Given the description of an element on the screen output the (x, y) to click on. 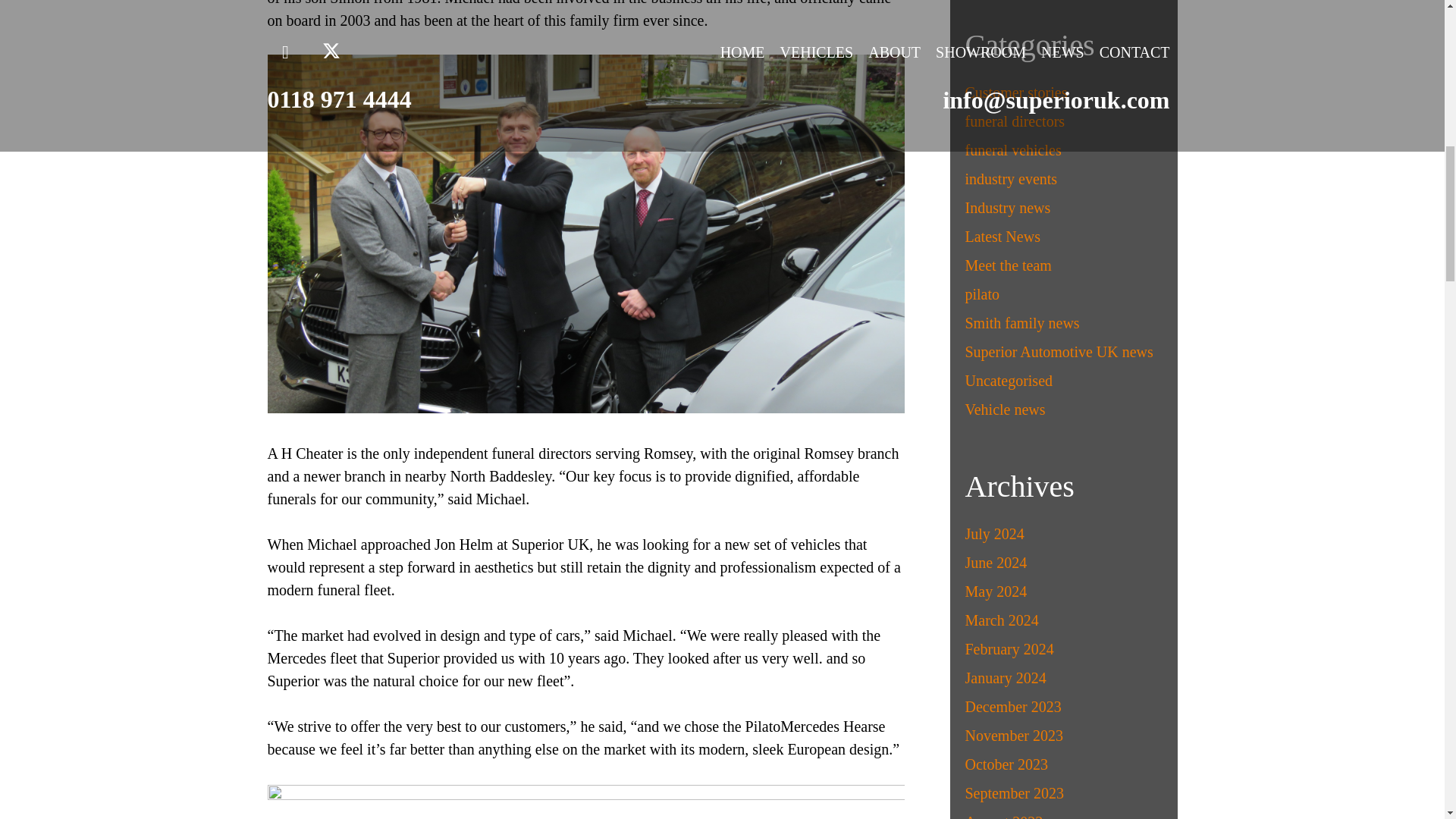
Industry news (1006, 207)
Superior Automotive UK news (1058, 351)
pilato (980, 293)
Uncategorised (1007, 380)
Latest News (1001, 236)
funeral vehicles (1012, 149)
funeral directors (1013, 121)
industry events (1010, 178)
Smith family news (1020, 322)
Customer stories (1015, 92)
Meet the team (1007, 265)
Back to top (30, 26)
